Given the description of an element on the screen output the (x, y) to click on. 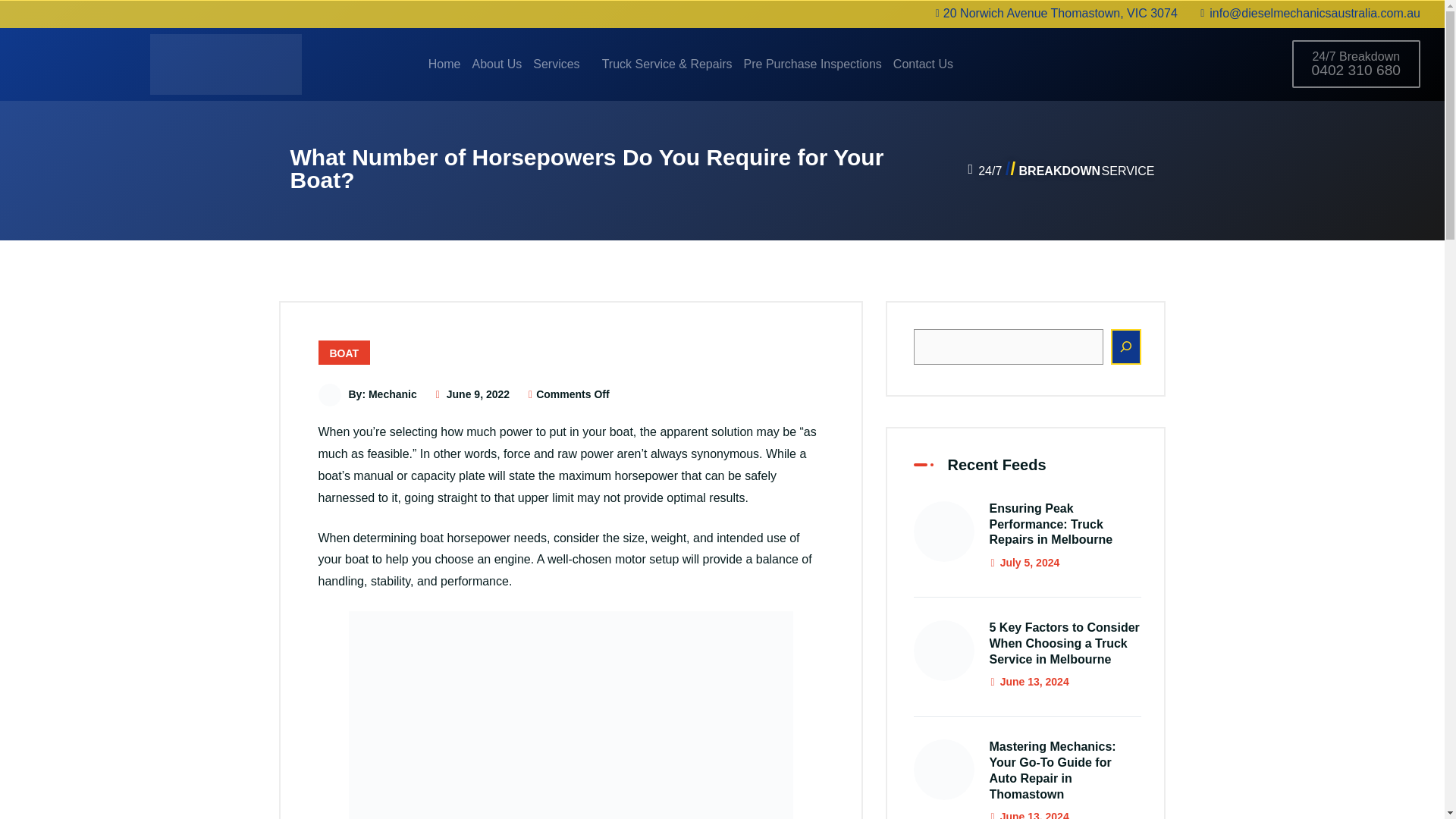
June 13, 2024 (1028, 681)
Home (444, 63)
Services (560, 63)
BOAT (344, 352)
Posts by Mechanic (392, 394)
June 13, 2024 (1028, 814)
About Us (496, 63)
Mechanic (392, 394)
July 5, 2024 (1023, 562)
Ensuring Peak Performance: Truck Repairs in Melbourne (1050, 524)
Pre Purchase Inspections (813, 63)
Contact Us (923, 63)
